Given the description of an element on the screen output the (x, y) to click on. 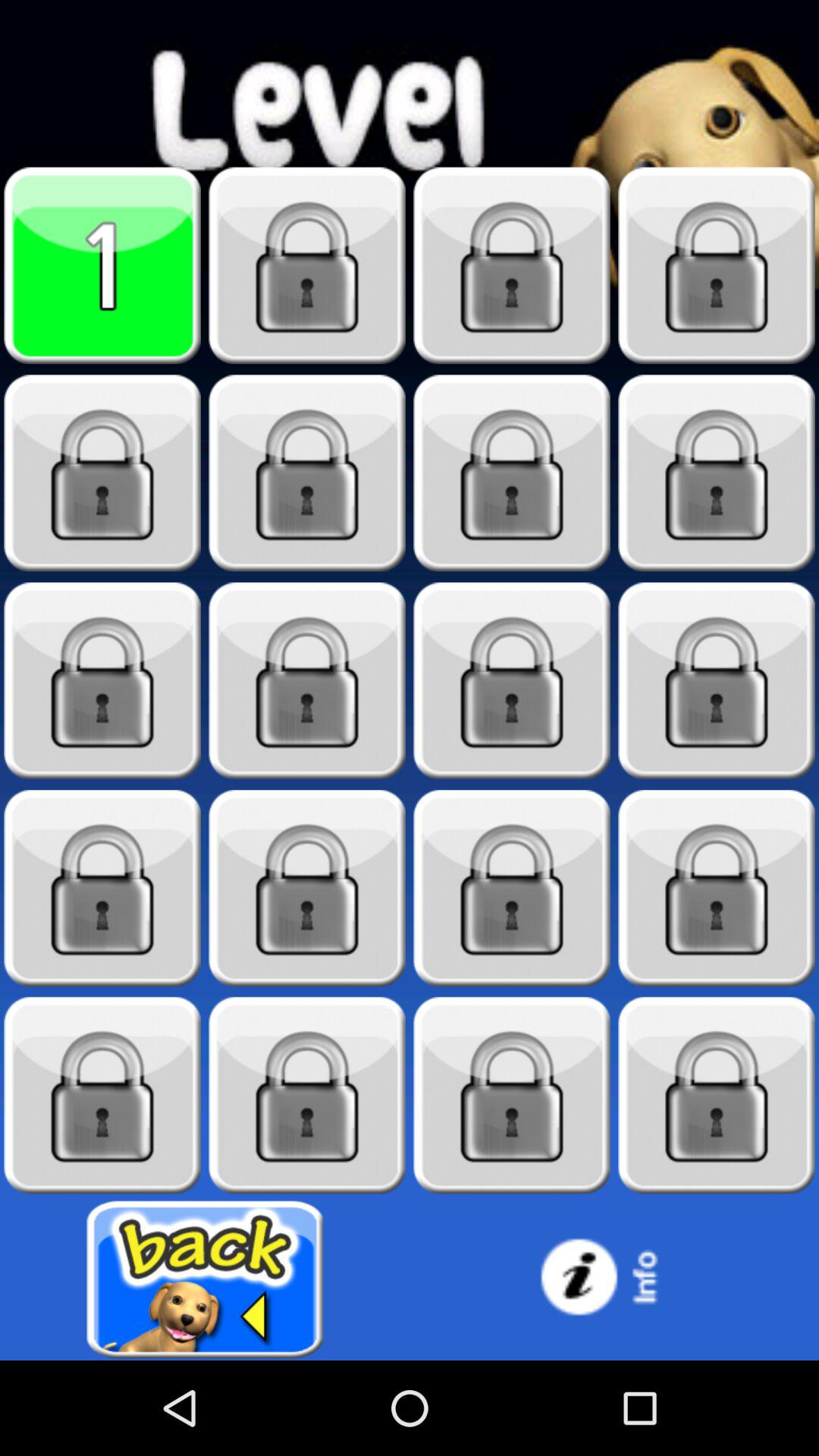
click for the level (511, 473)
